Given the description of an element on the screen output the (x, y) to click on. 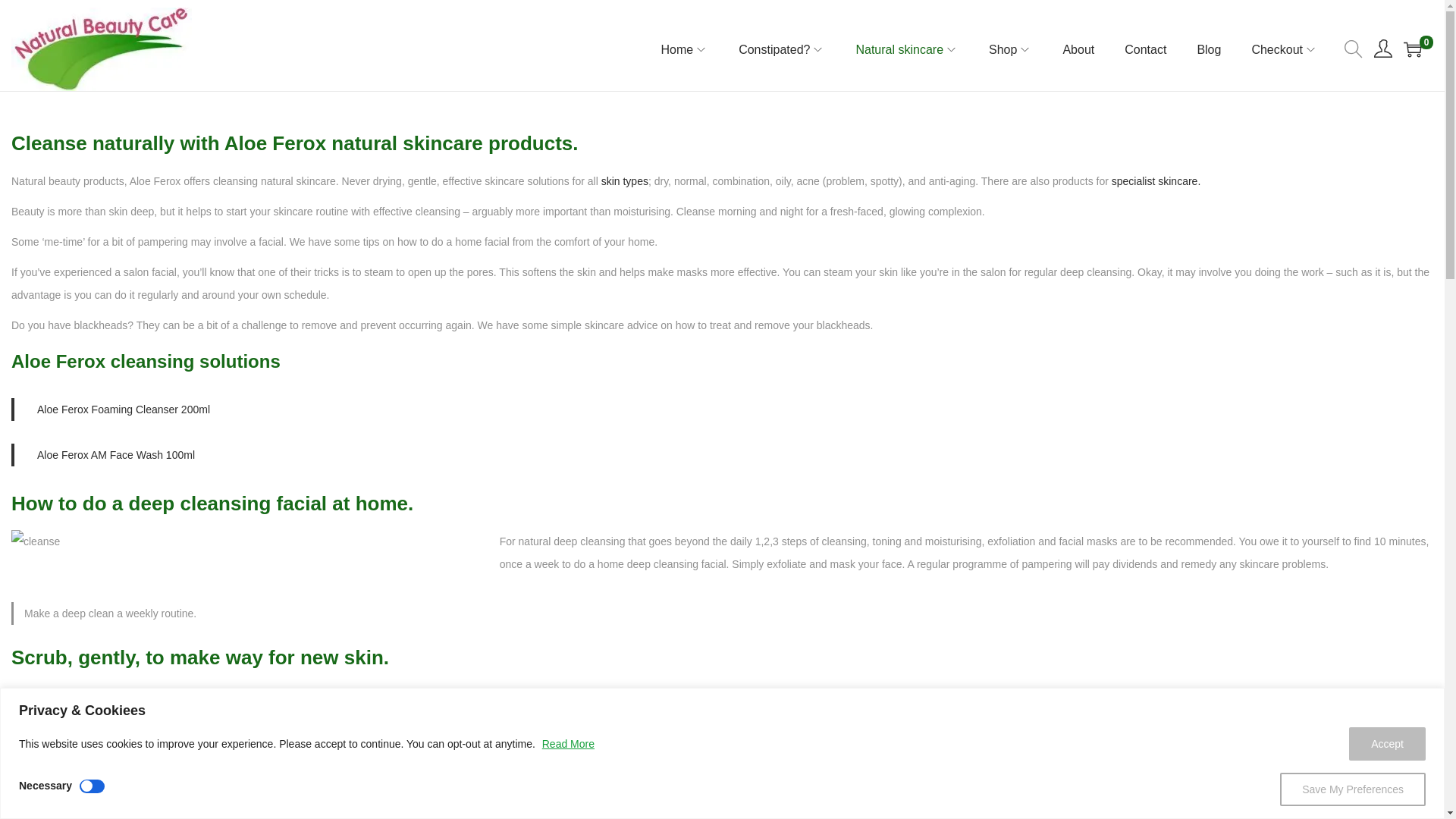
Accept (1387, 743)
Save My Preferences (1352, 788)
on (92, 786)
Read More (568, 744)
